Given the description of an element on the screen output the (x, y) to click on. 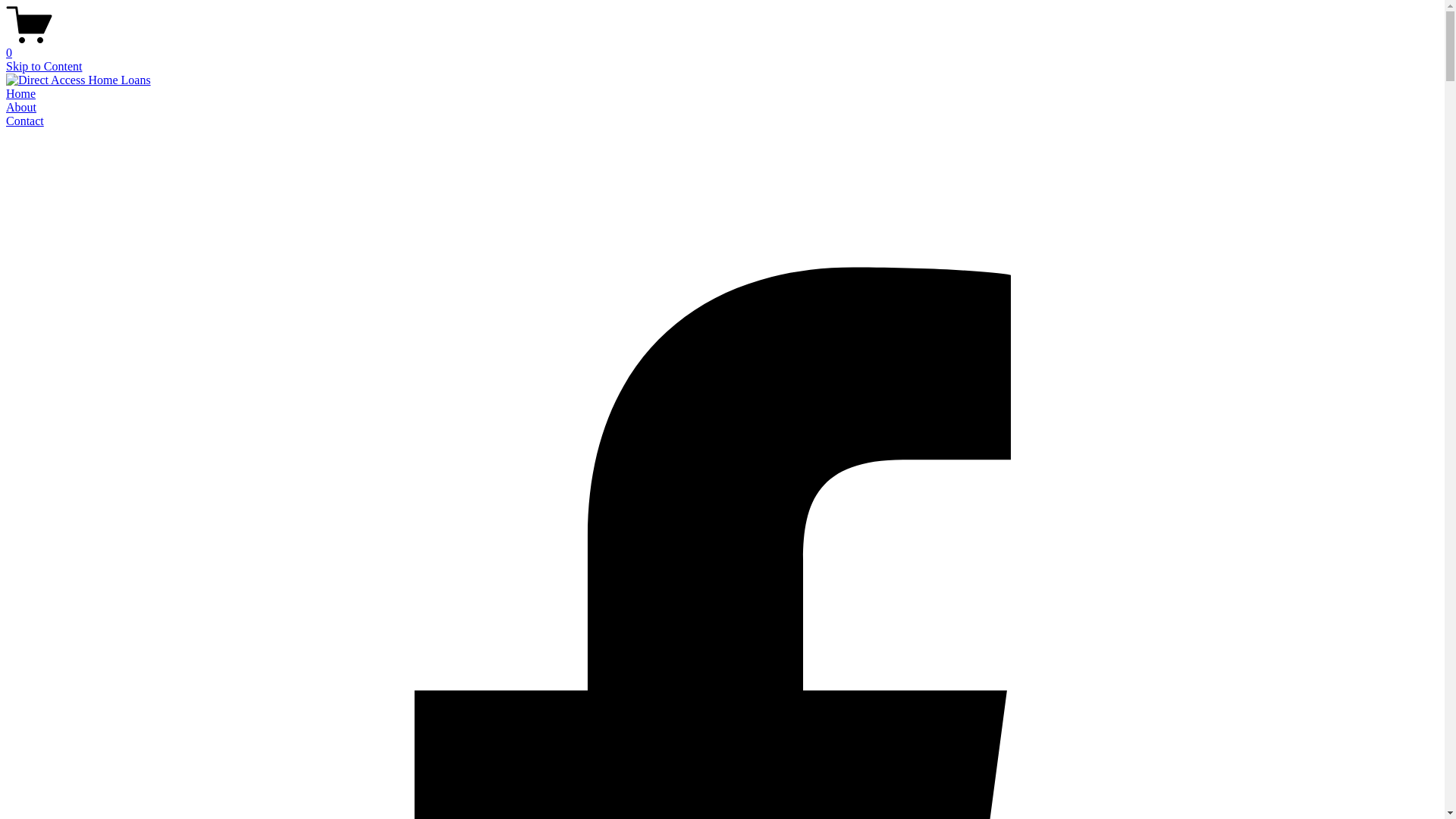
About Element type: text (21, 106)
0 Element type: text (722, 45)
Contact Element type: text (24, 120)
Home Element type: text (20, 93)
Skip to Content Element type: text (43, 65)
